Given the description of an element on the screen output the (x, y) to click on. 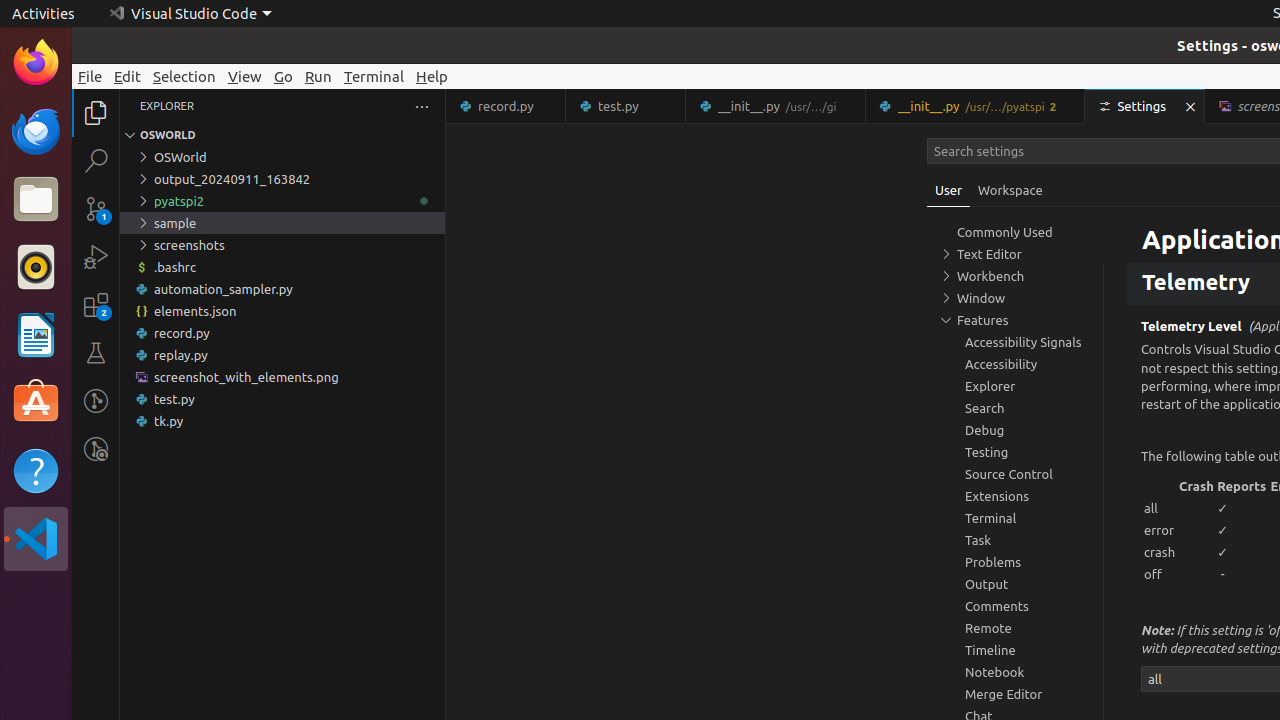
File Element type: push-button (90, 76)
Edit Element type: push-button (127, 76)
record.py Element type: tree-item (282, 333)
View Element type: push-button (245, 76)
